Given the description of an element on the screen output the (x, y) to click on. 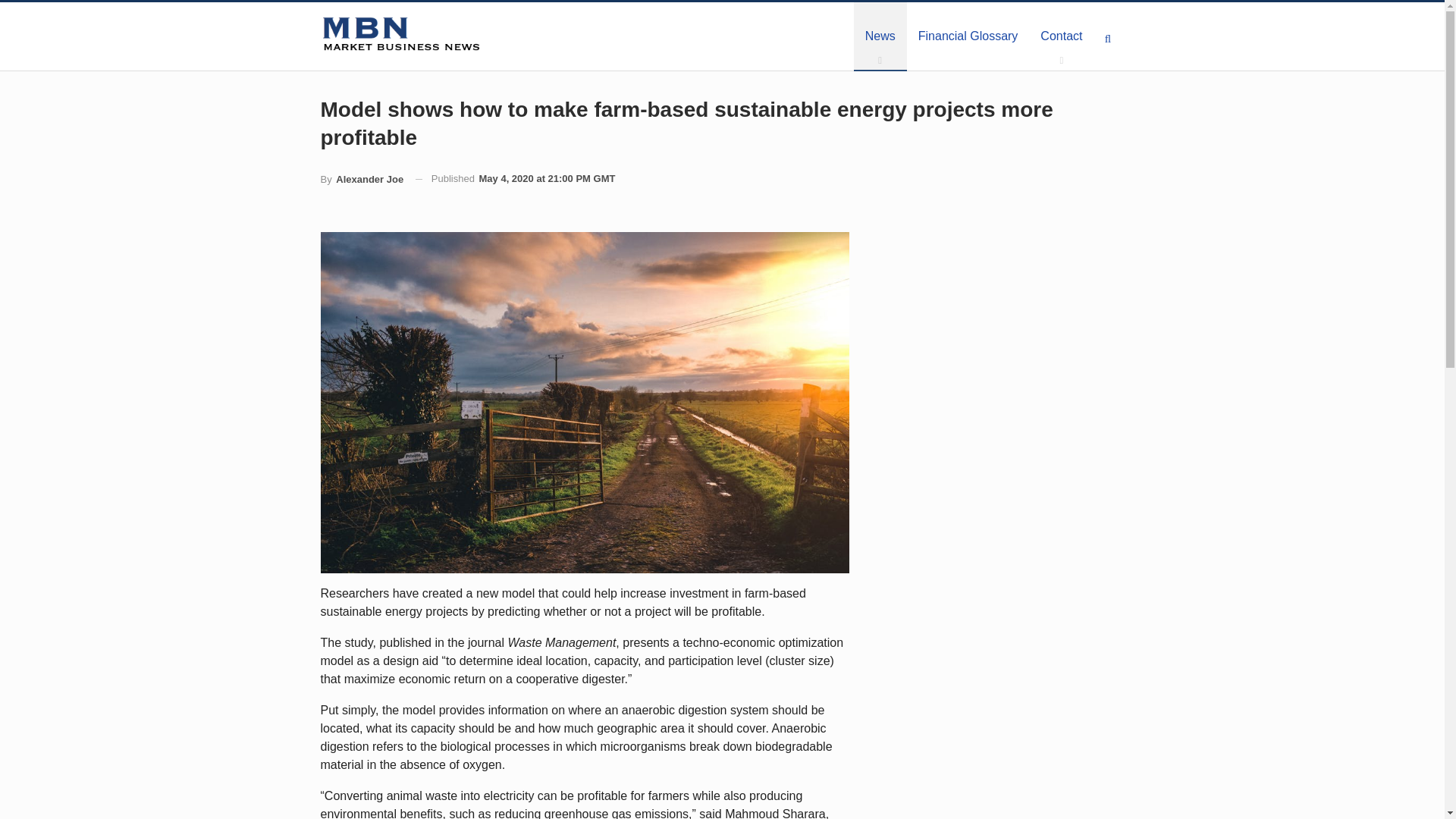
Financial Glossary (968, 36)
Contact (1061, 36)
Browse Author Articles (361, 179)
By Alexander Joe (361, 179)
